Given the description of an element on the screen output the (x, y) to click on. 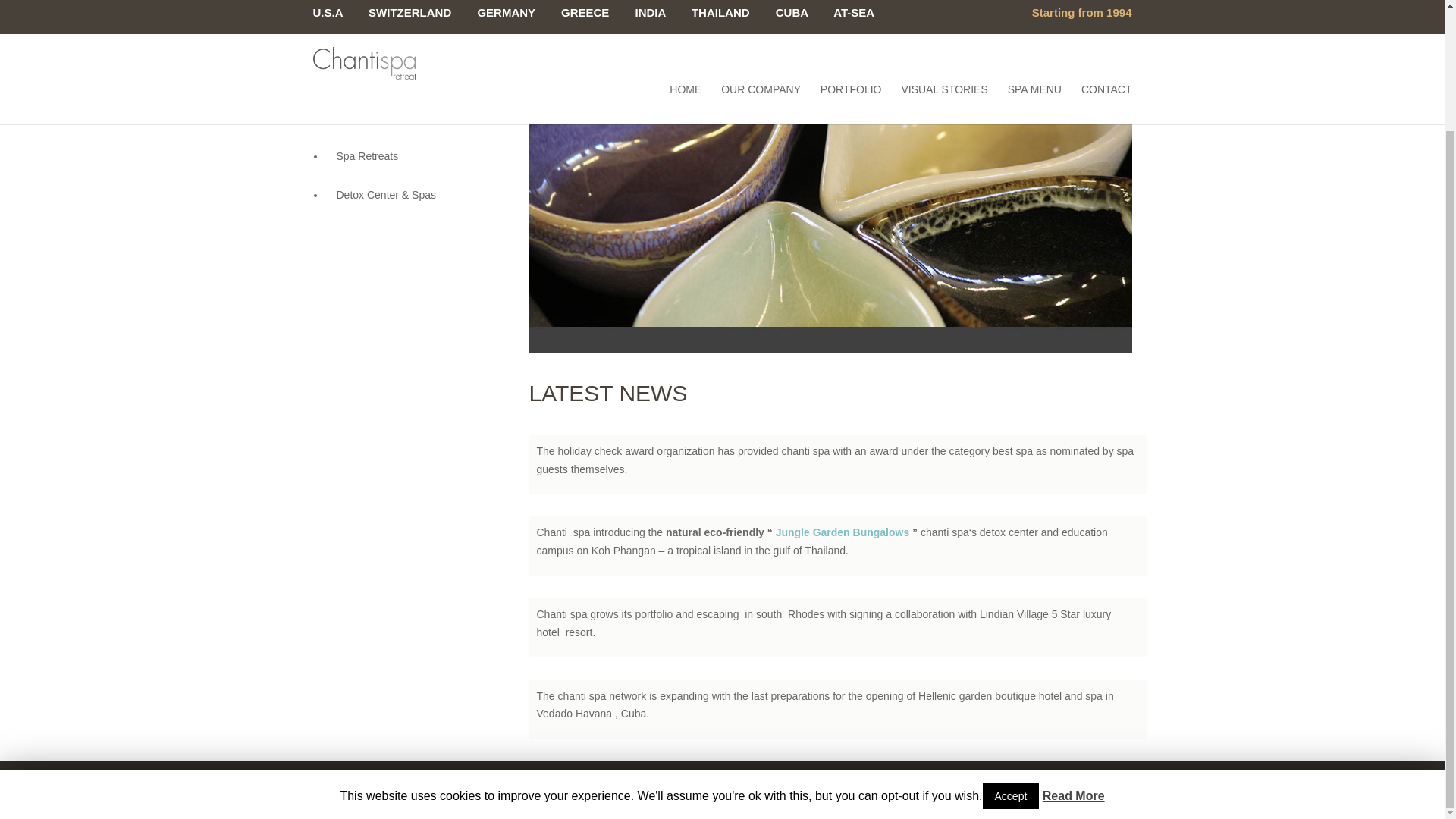
Jungle Garden Bungalows (840, 532)
GDPR - DATA ACCESS REQUEST FORM (683, 780)
Jungle Garden Bungalows (840, 532)
Privacy Policy (820, 780)
Accept (1010, 651)
Read More (1073, 651)
